Given the description of an element on the screen output the (x, y) to click on. 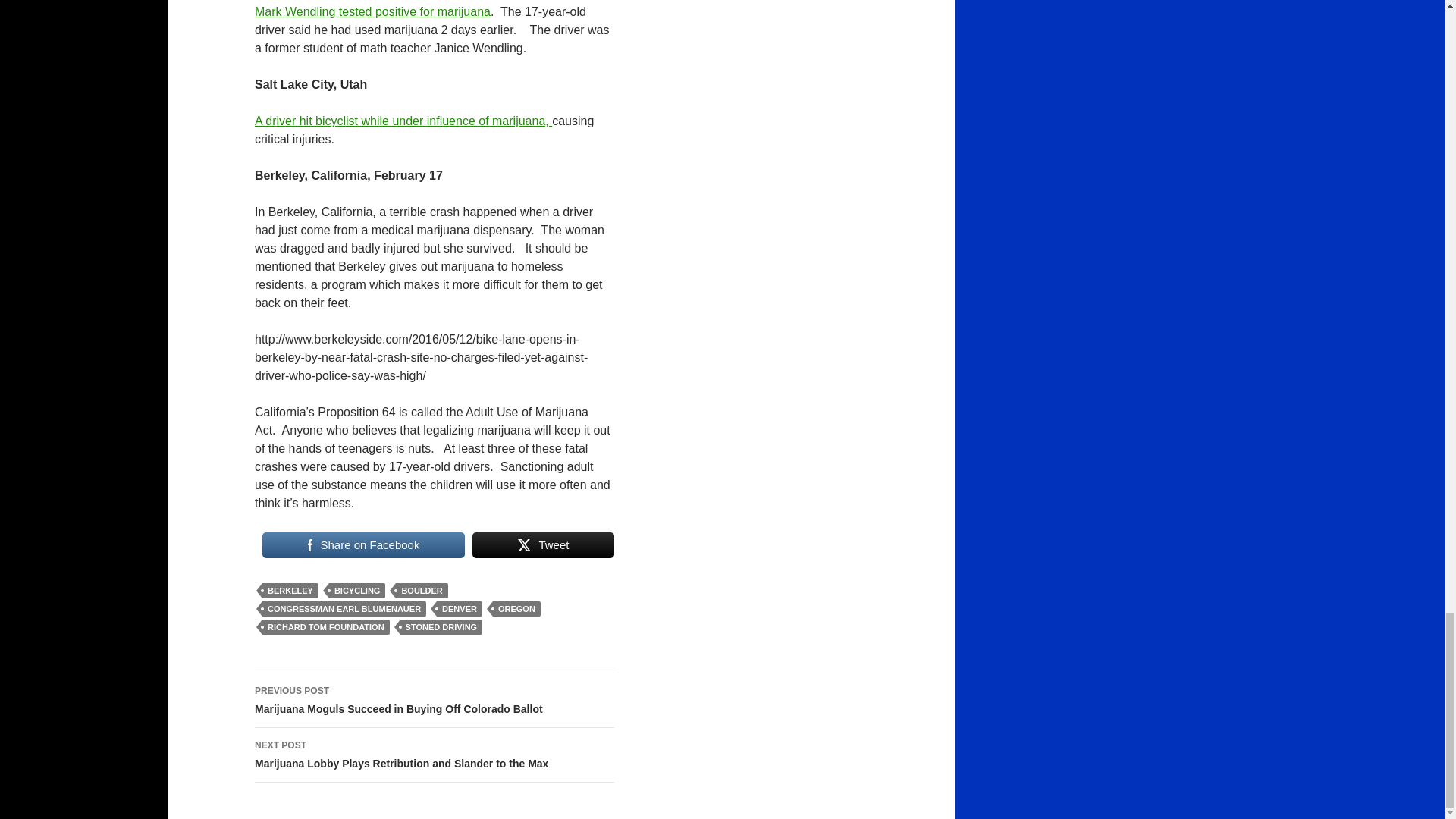
BICYCLING (357, 590)
A driver hit bicyclist while under influence of marijuana, (402, 120)
Tweet (542, 544)
Share on Facebook (363, 544)
BERKELEY (290, 590)
